Given the description of an element on the screen output the (x, y) to click on. 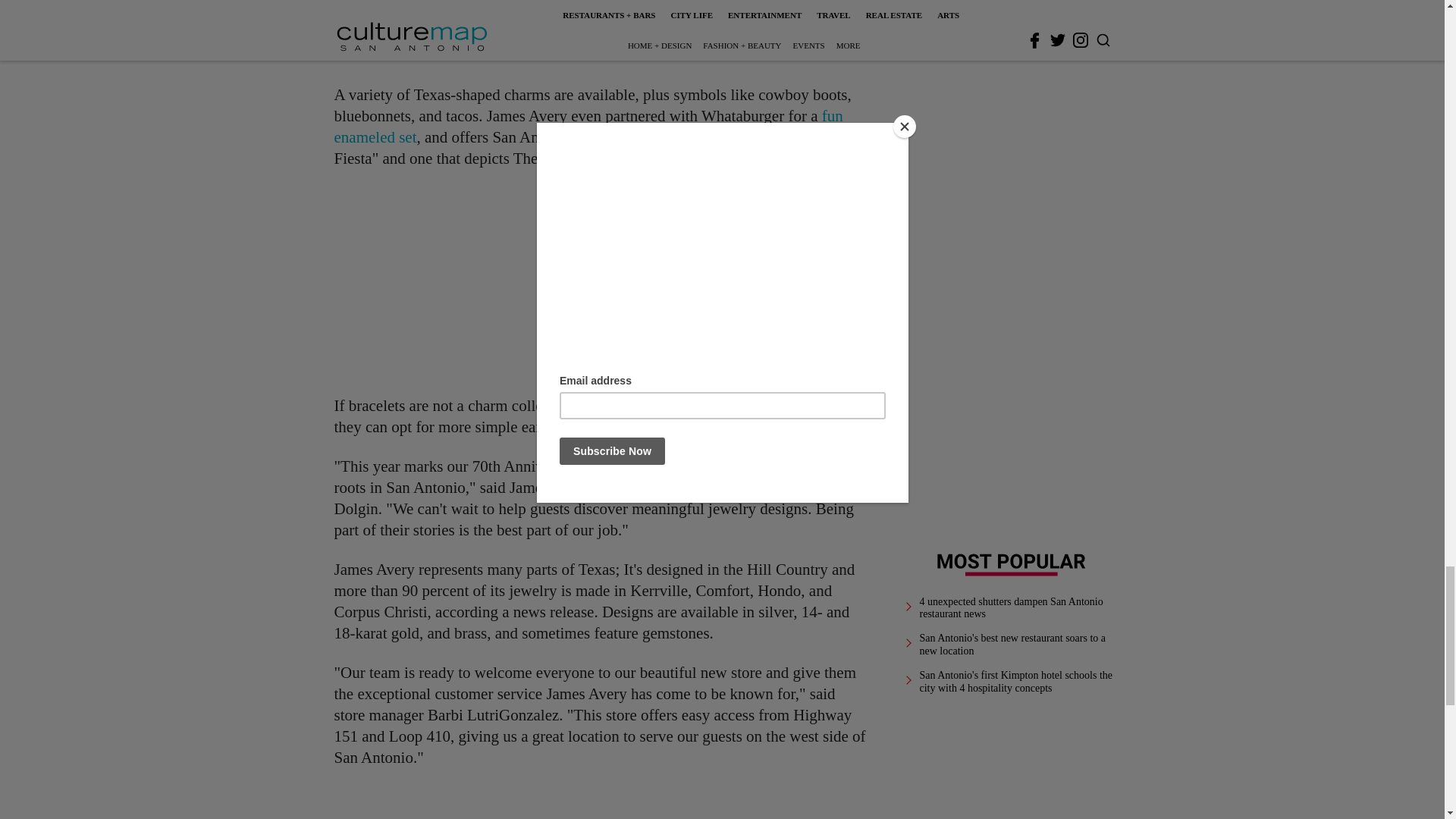
3rd party ad content (600, 802)
3rd party ad content (600, 281)
